Given the description of an element on the screen output the (x, y) to click on. 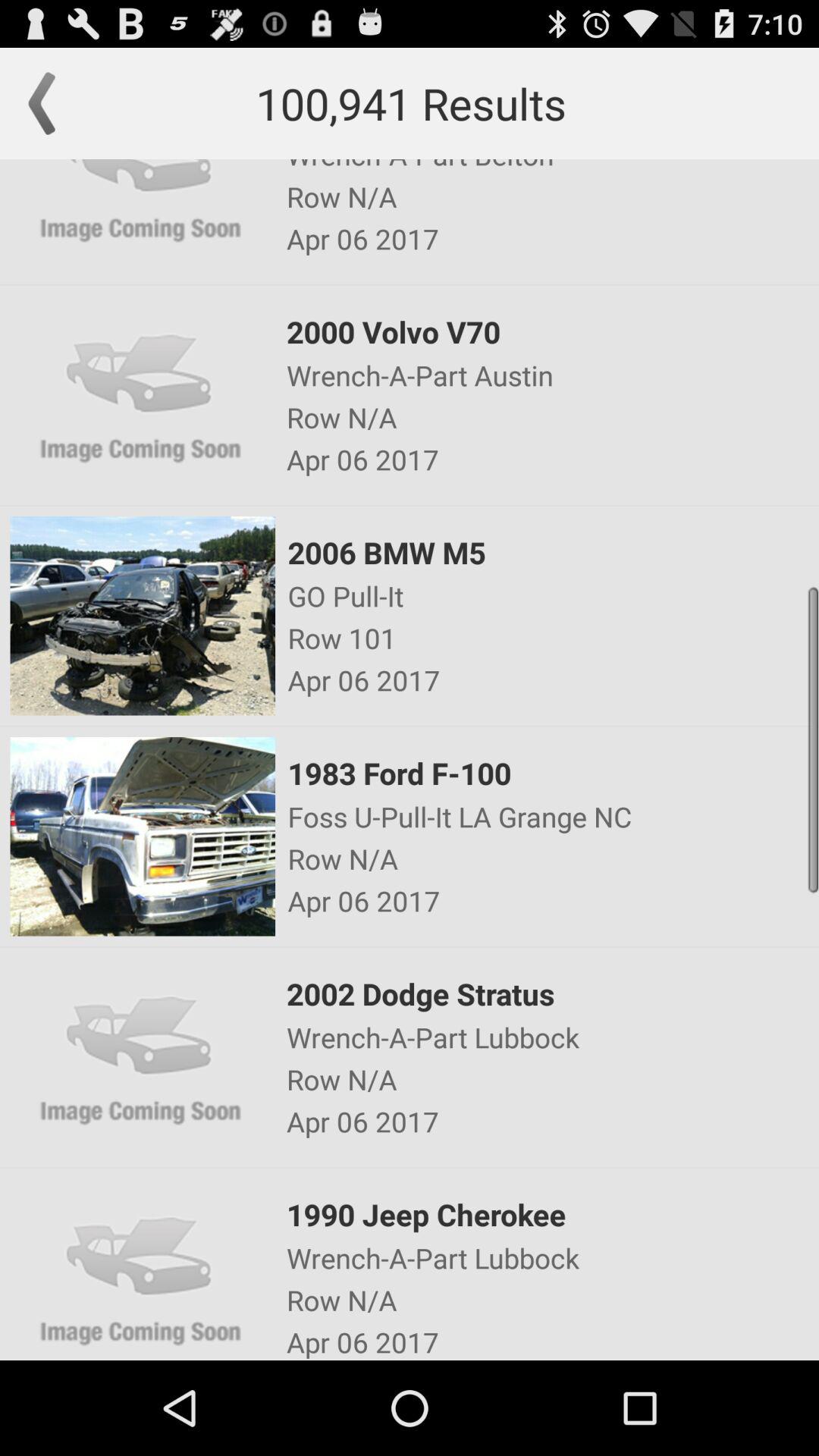
flip until 2000 volvo v70 (551, 331)
